Given the description of an element on the screen output the (x, y) to click on. 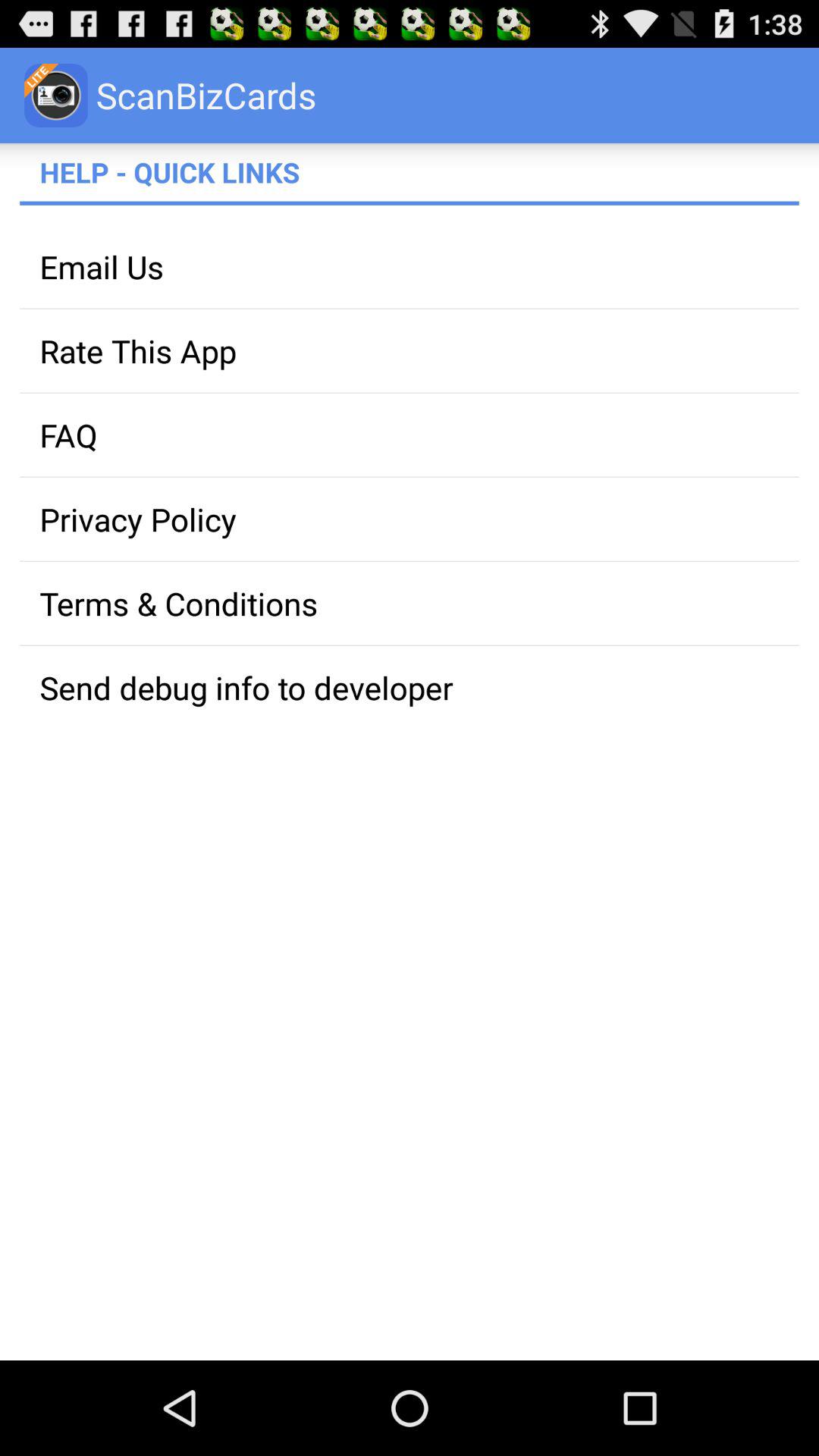
turn on the rate this app (409, 350)
